Given the description of an element on the screen output the (x, y) to click on. 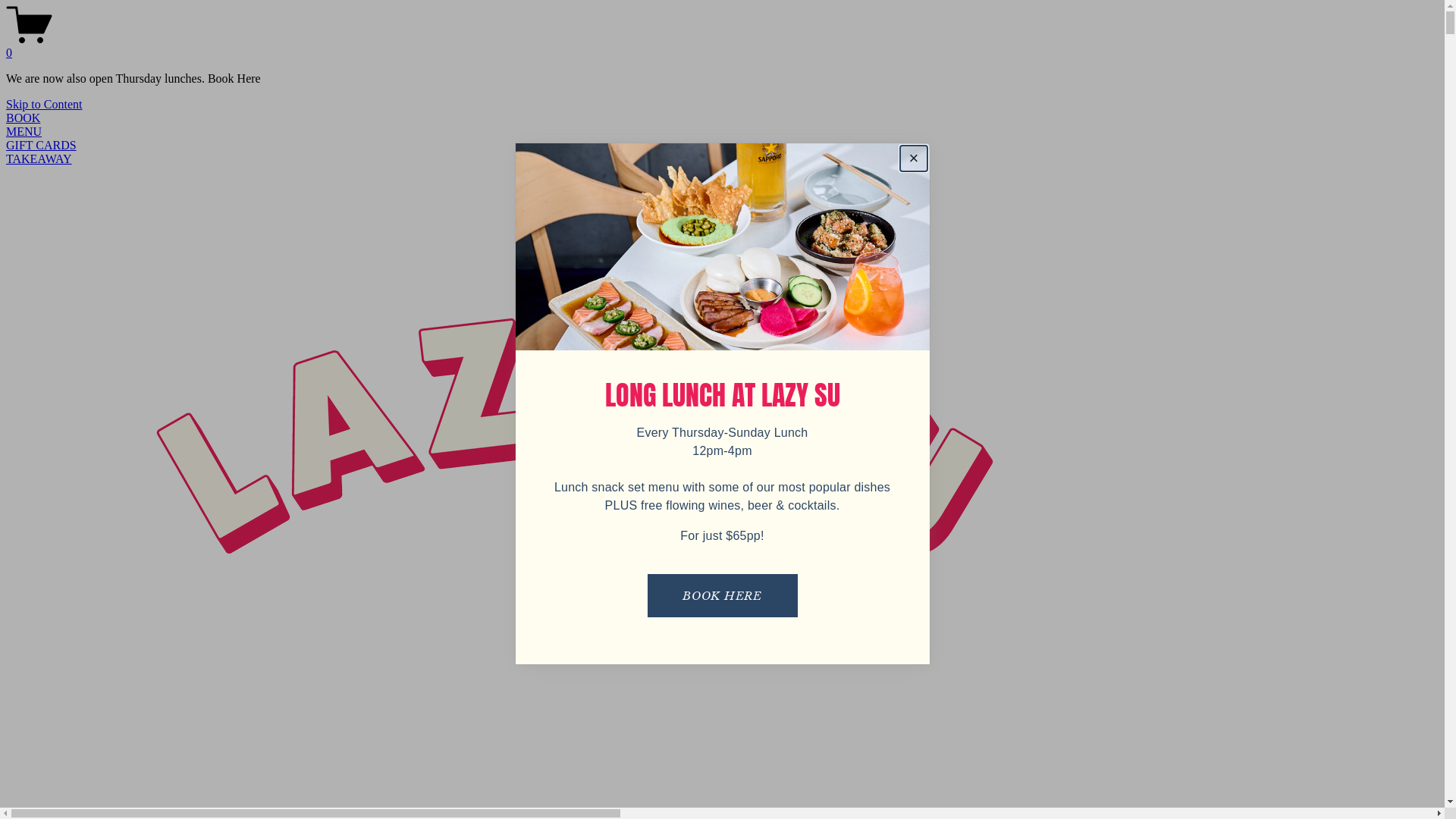
GIFT CARDS Element type: text (41, 144)
TAKEAWAY Element type: text (39, 158)
BOOK HERE Element type: text (722, 595)
BOOK Element type: text (23, 117)
MENU Element type: text (23, 131)
0 Element type: text (722, 45)
Skip to Content Element type: text (43, 103)
